Given the description of an element on the screen output the (x, y) to click on. 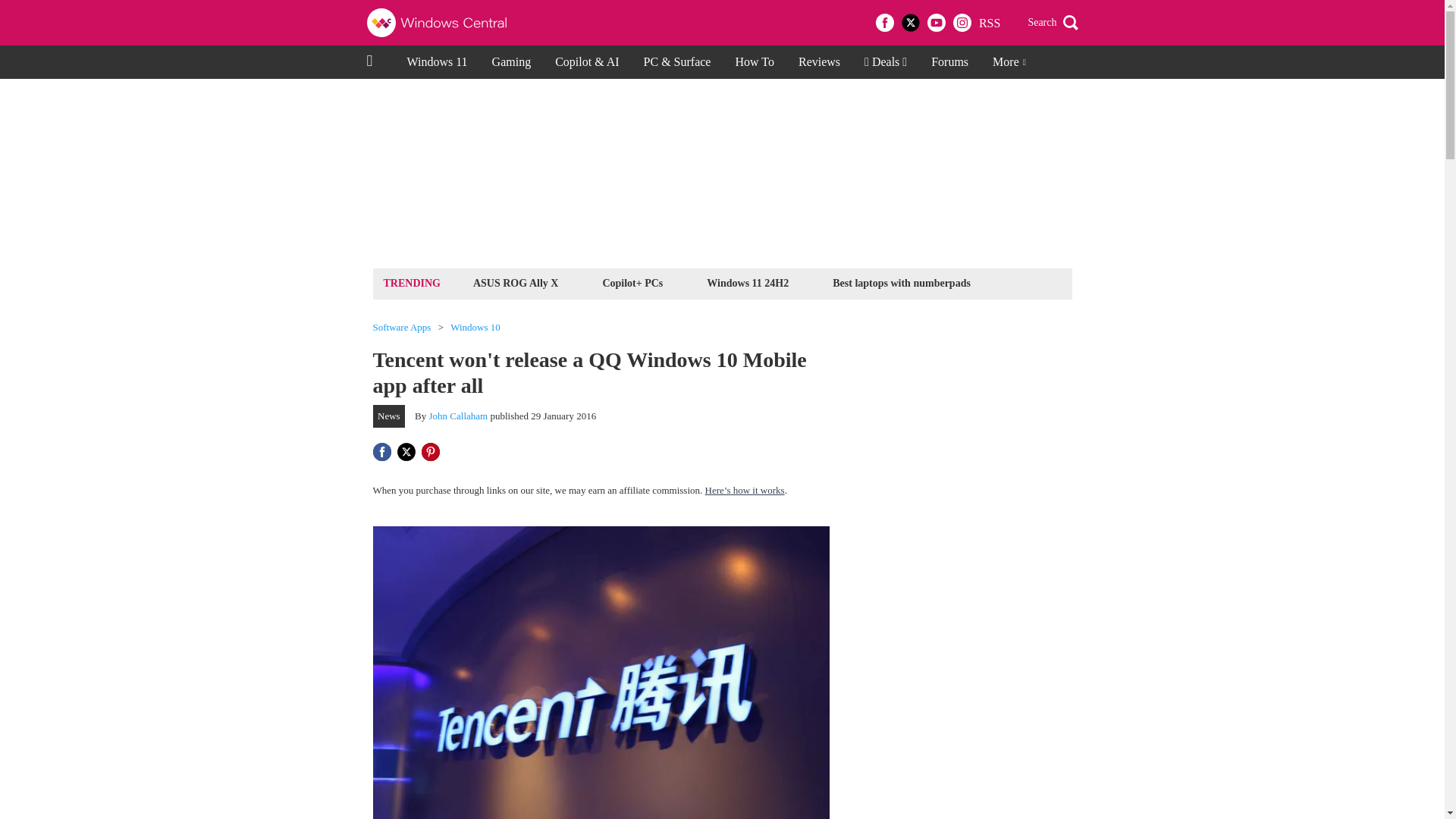
Software Apps (401, 327)
Windows 10 (474, 327)
ASUS ROG Ally X (515, 282)
Reviews (818, 61)
John Callaham (458, 415)
Windows 11 (436, 61)
Windows 11 24H2 (747, 282)
RSS (989, 22)
Gaming (511, 61)
Forums (948, 61)
Best laptops with numberpads (901, 282)
How To (754, 61)
News (389, 415)
